Given the description of an element on the screen output the (x, y) to click on. 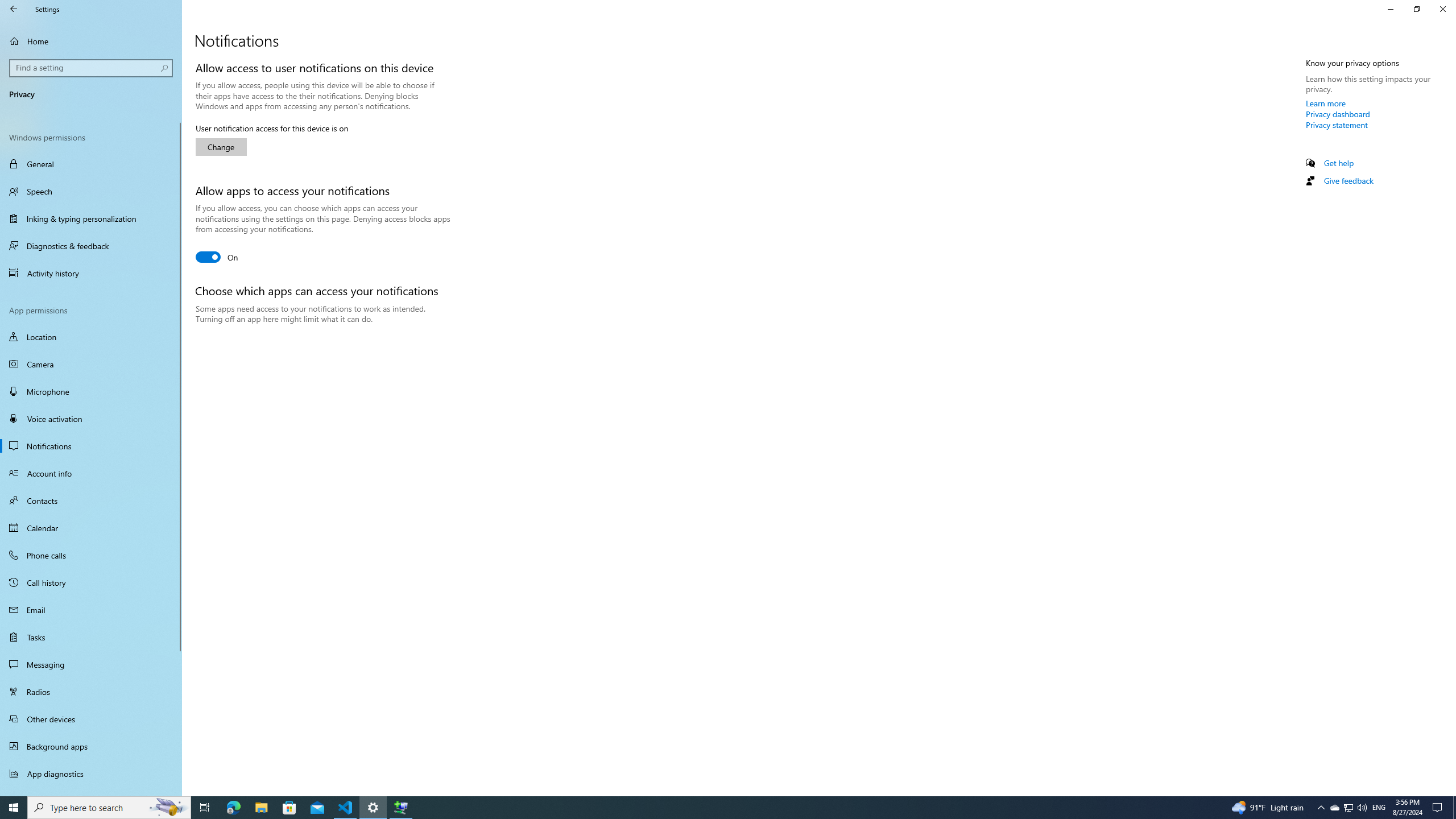
Tasks (91, 636)
Location (91, 336)
Allow apps to access your notifications (216, 257)
Messaging (91, 664)
